Given the description of an element on the screen output the (x, y) to click on. 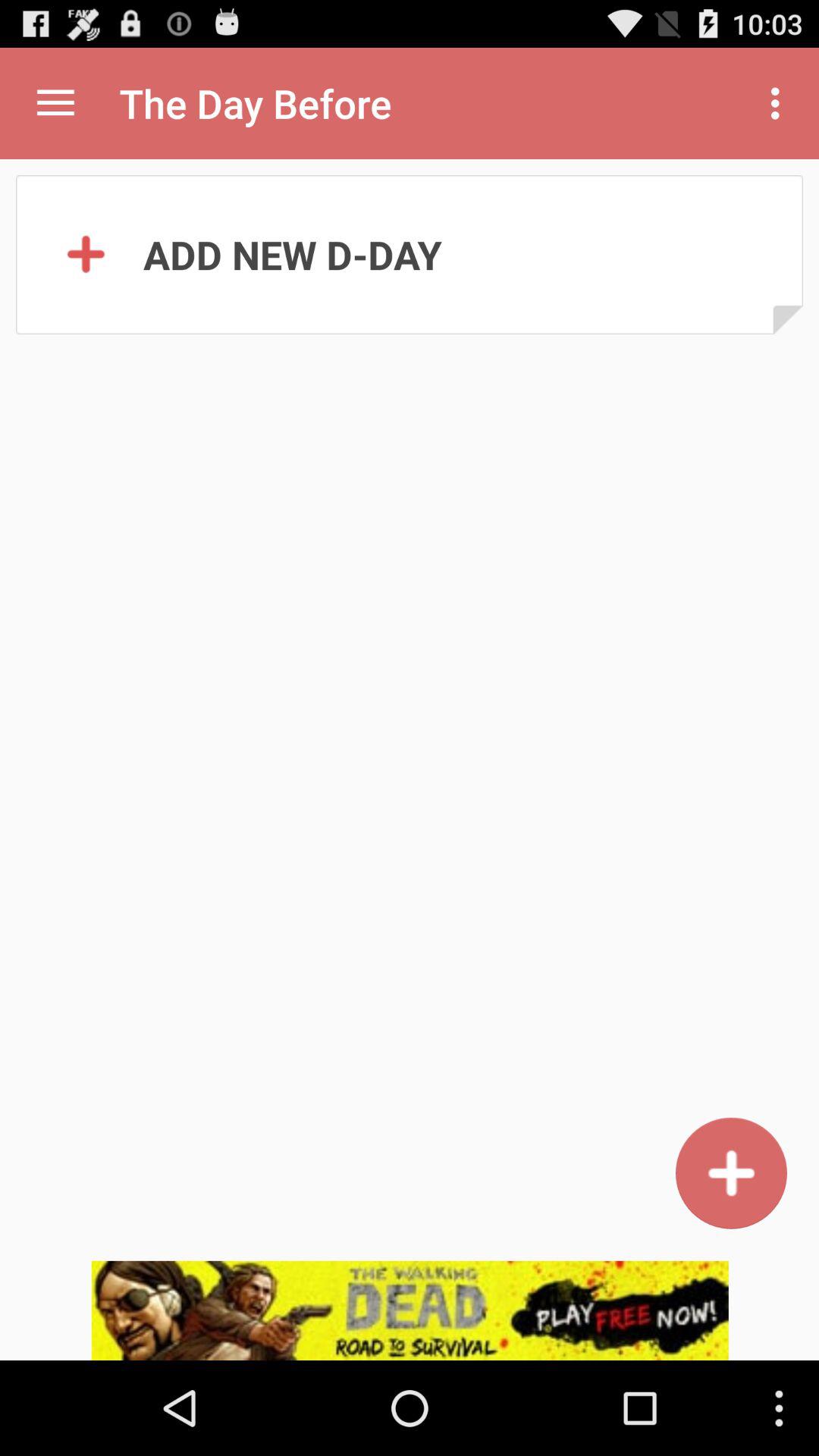
add in the option (731, 1173)
